Given the description of an element on the screen output the (x, y) to click on. 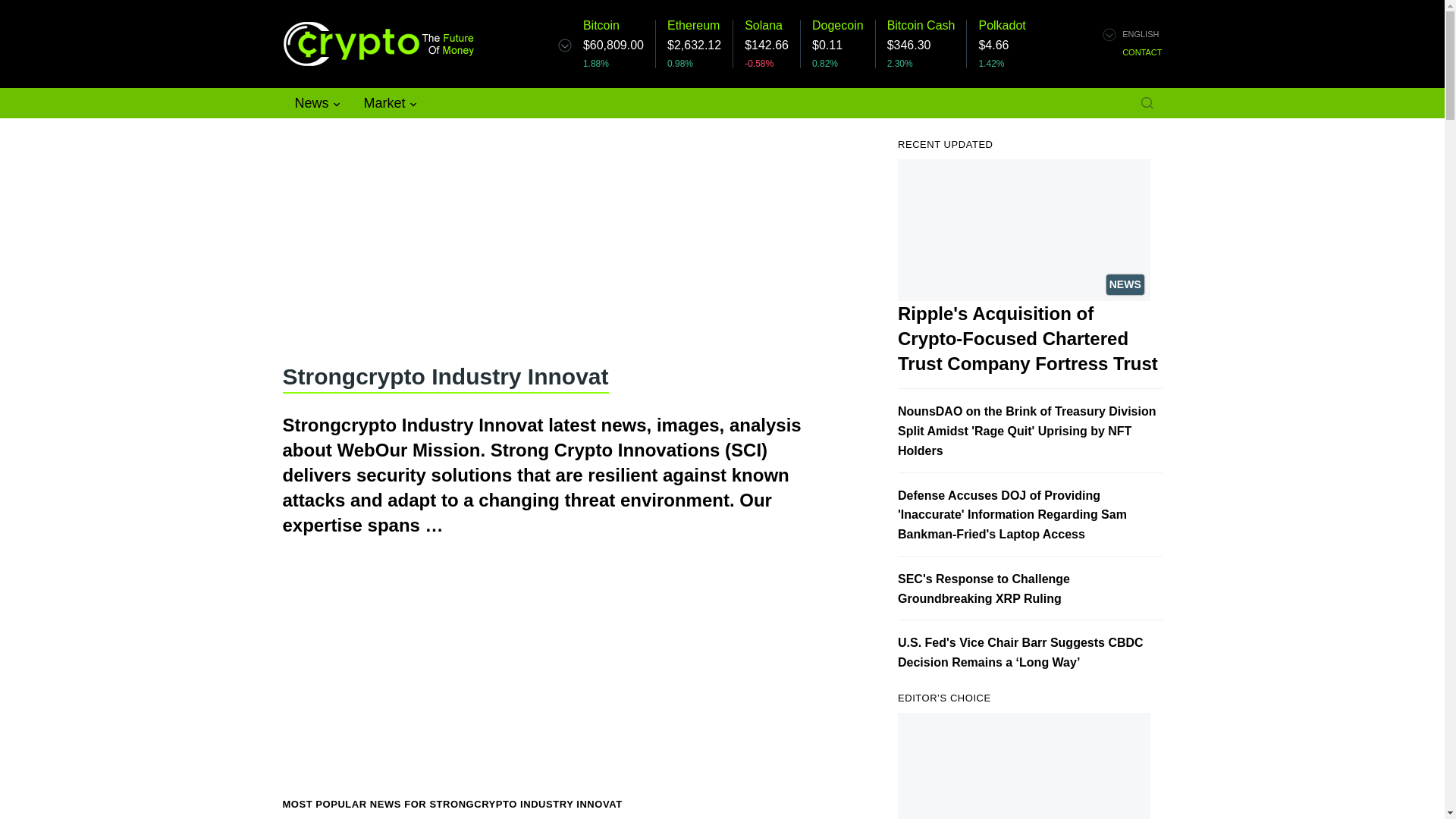
ENGLISH (1140, 34)
Advertisement (554, 236)
Advertisement (554, 680)
CONTACT (1141, 51)
